Given the description of an element on the screen output the (x, y) to click on. 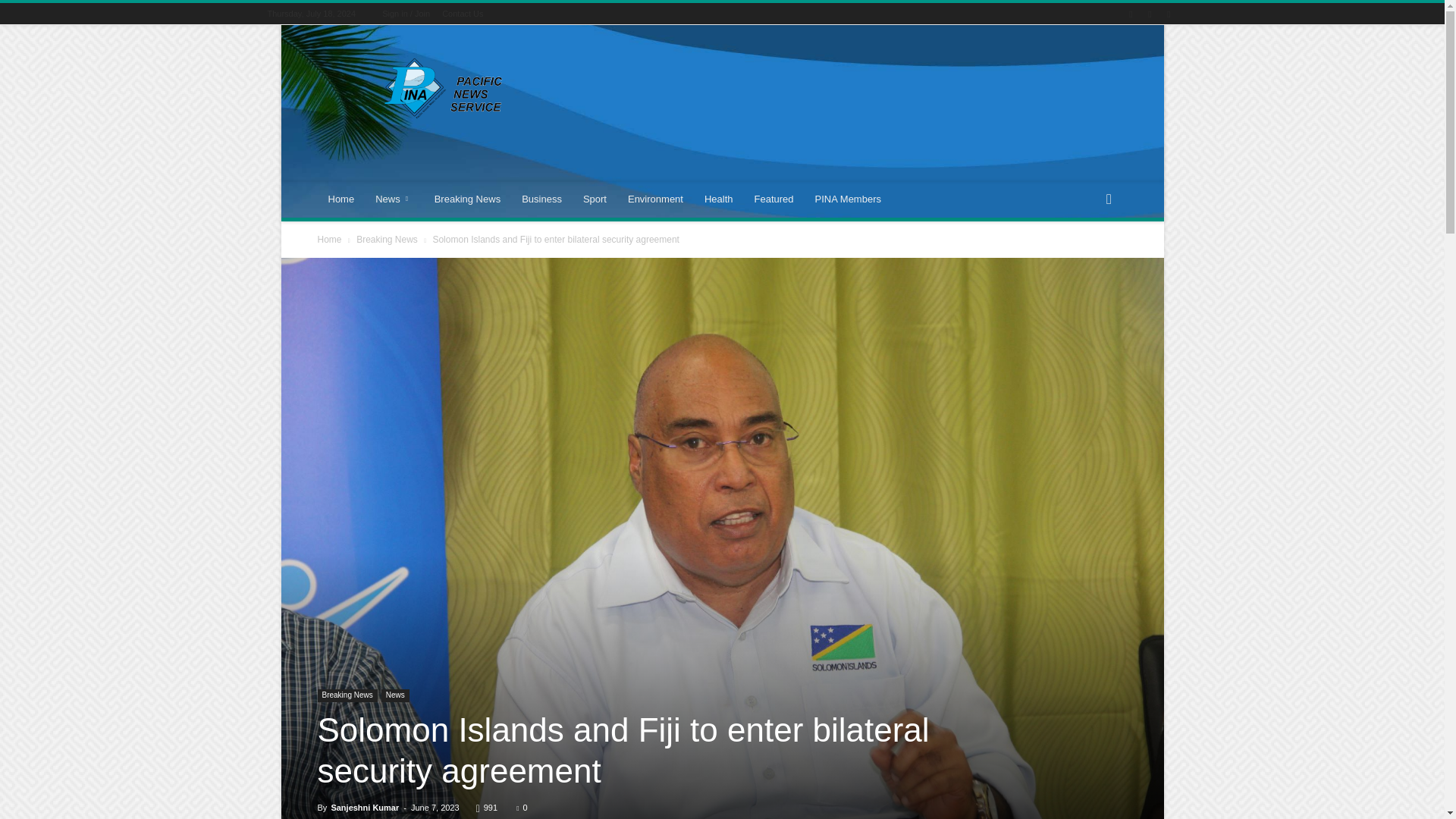
Pacific Islands News Association (445, 88)
Contact Us (462, 13)
News (394, 198)
Home (341, 198)
